Given the description of an element on the screen output the (x, y) to click on. 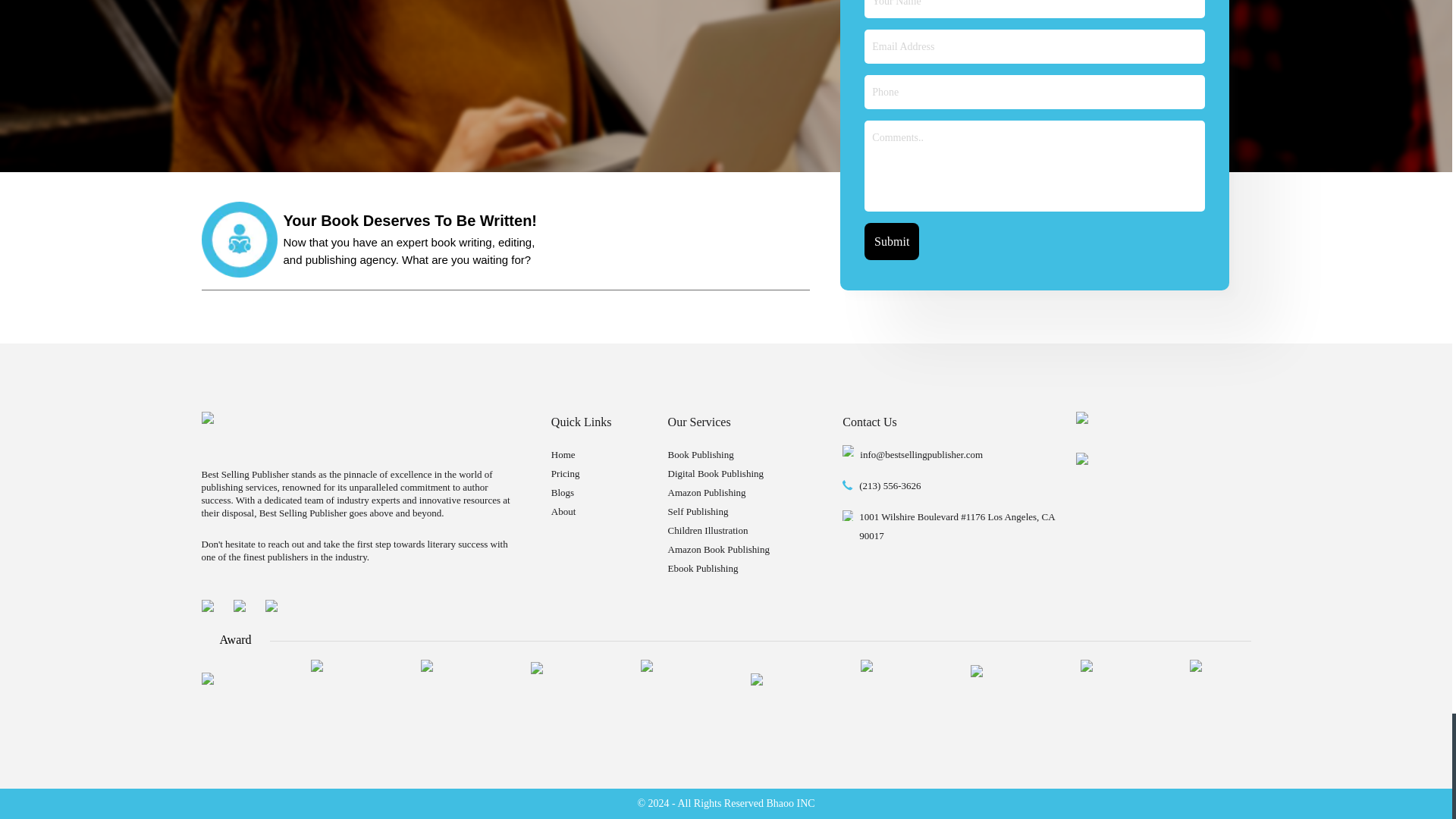
Home (563, 454)
Submit (891, 241)
